Given the description of an element on the screen output the (x, y) to click on. 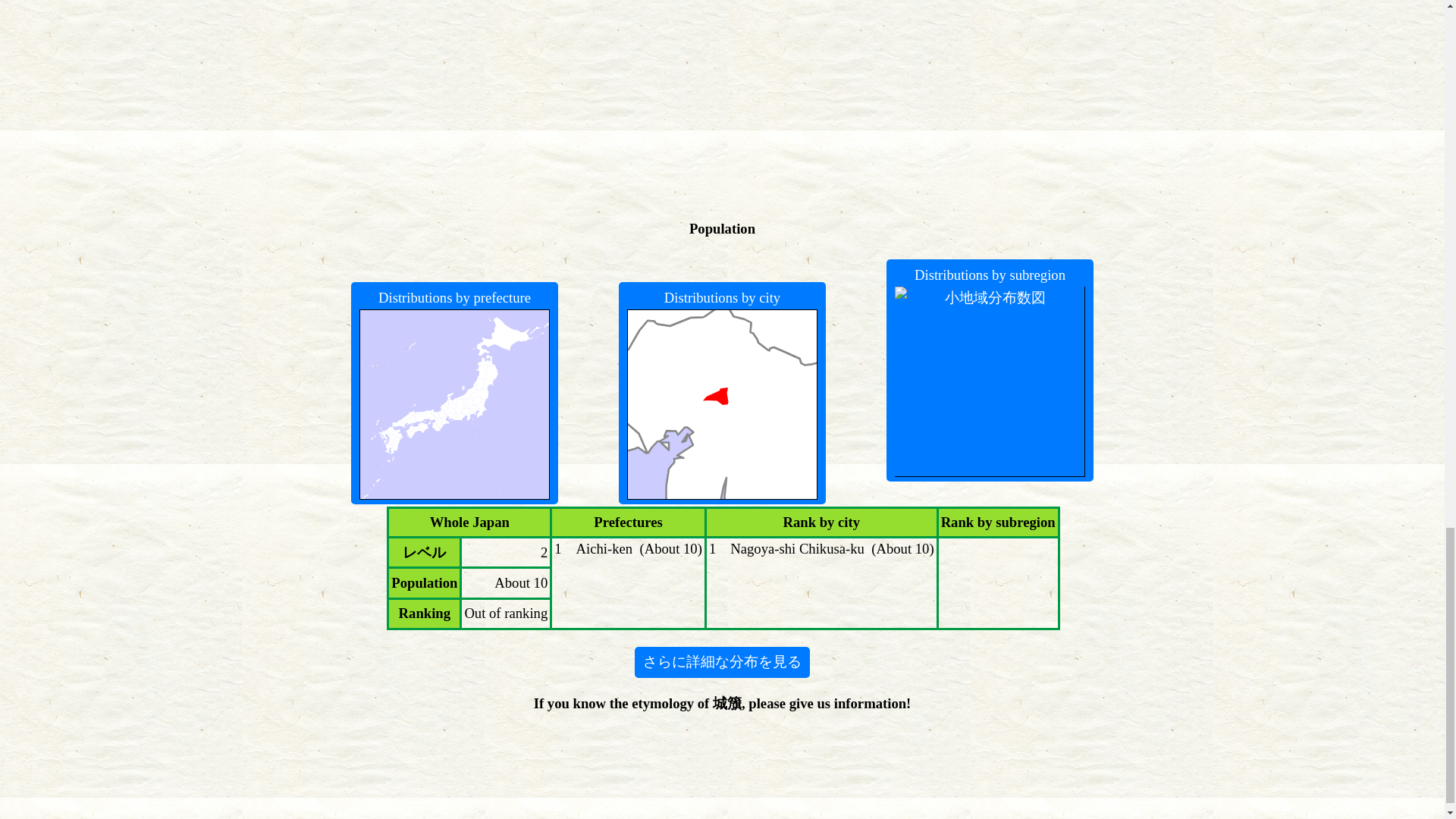
Distributions by prefecture (454, 392)
Distributions by subregion (990, 370)
Distributions by city (722, 392)
